Given the description of an element on the screen output the (x, y) to click on. 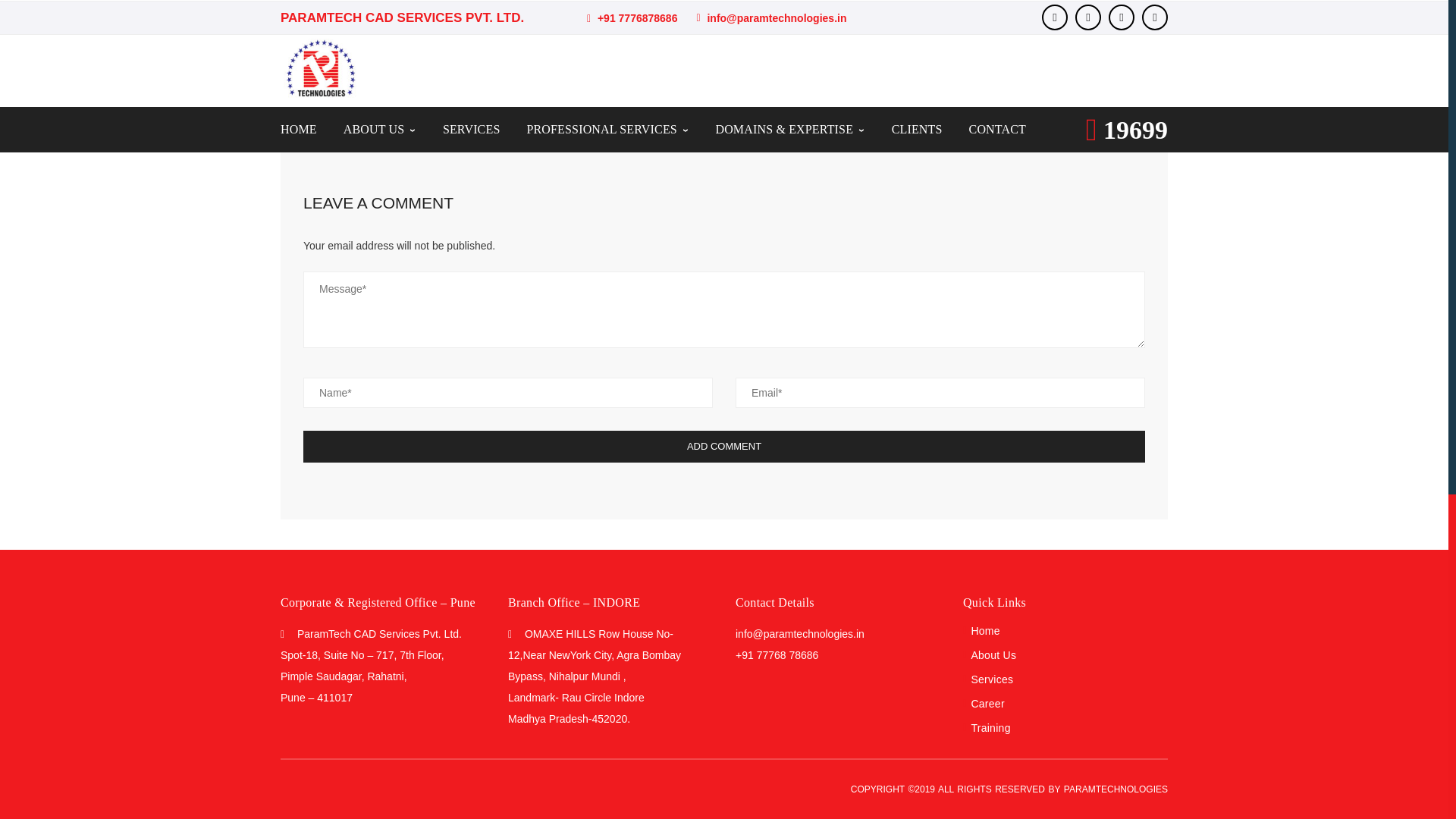
Share on Facebook (734, 76)
Add Comment (723, 446)
Share on Twitter (764, 76)
Share on Linkedin (827, 76)
